Given the description of an element on the screen output the (x, y) to click on. 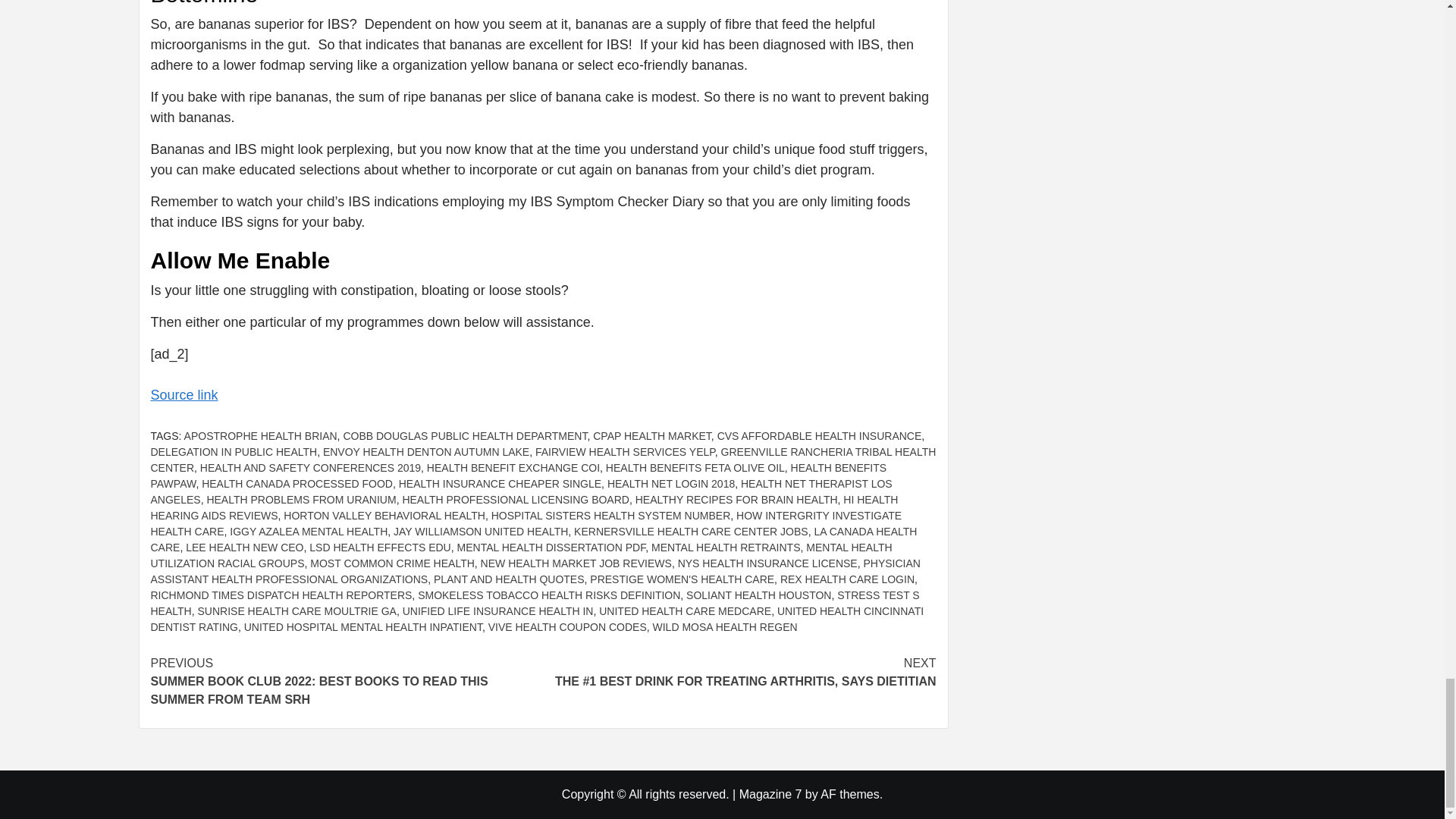
APOSTROPHE HEALTH BRIAN (260, 435)
CPAP HEALTH MARKET (651, 435)
CVS AFFORDABLE HEALTH INSURANCE (819, 435)
Source link (182, 394)
ENVOY HEALTH DENTON AUTUMN LAKE (426, 451)
DELEGATION IN PUBLIC HEALTH (233, 451)
COBB DOUGLAS PUBLIC HEALTH DEPARTMENT (464, 435)
